Given the description of an element on the screen output the (x, y) to click on. 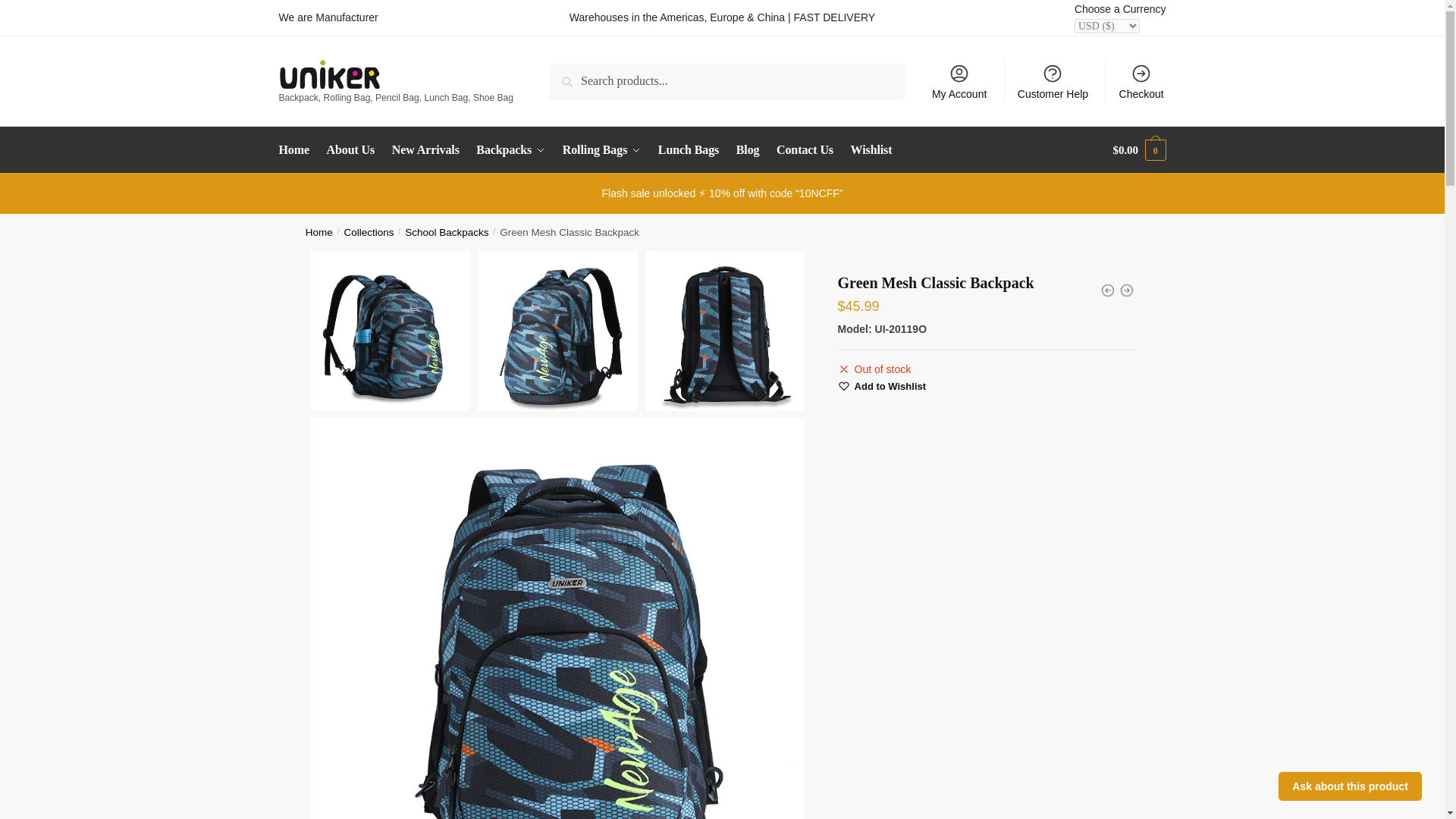
My Account (959, 80)
Search (571, 74)
Backpacks (511, 149)
Customer Help (1053, 80)
About Us (350, 149)
New Arrivals (425, 149)
Checkout (1141, 80)
